Given the description of an element on the screen output the (x, y) to click on. 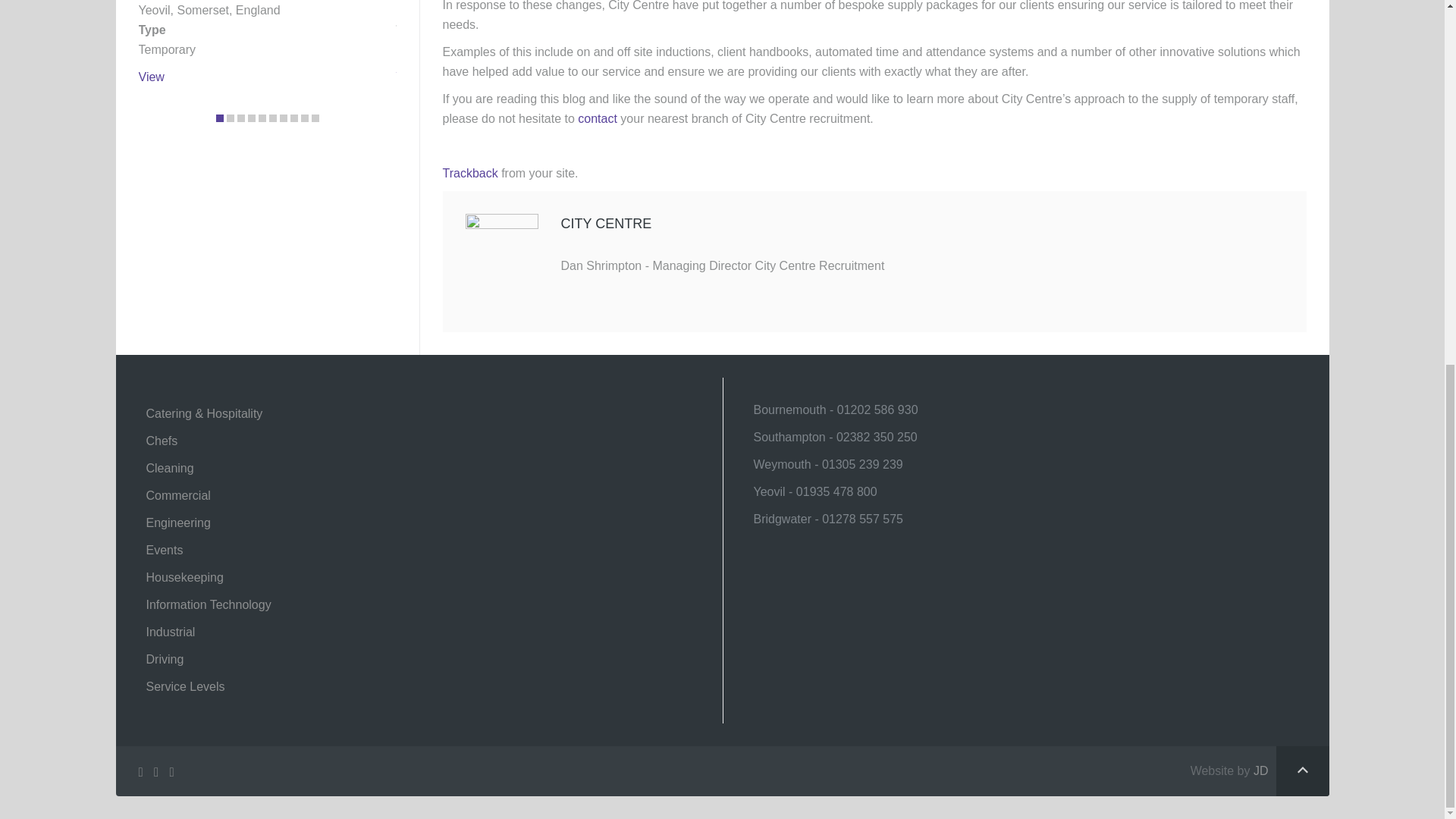
Trackback (469, 173)
Contact us (597, 118)
Event Cleaner (150, 76)
contact (597, 118)
